Given the description of an element on the screen output the (x, y) to click on. 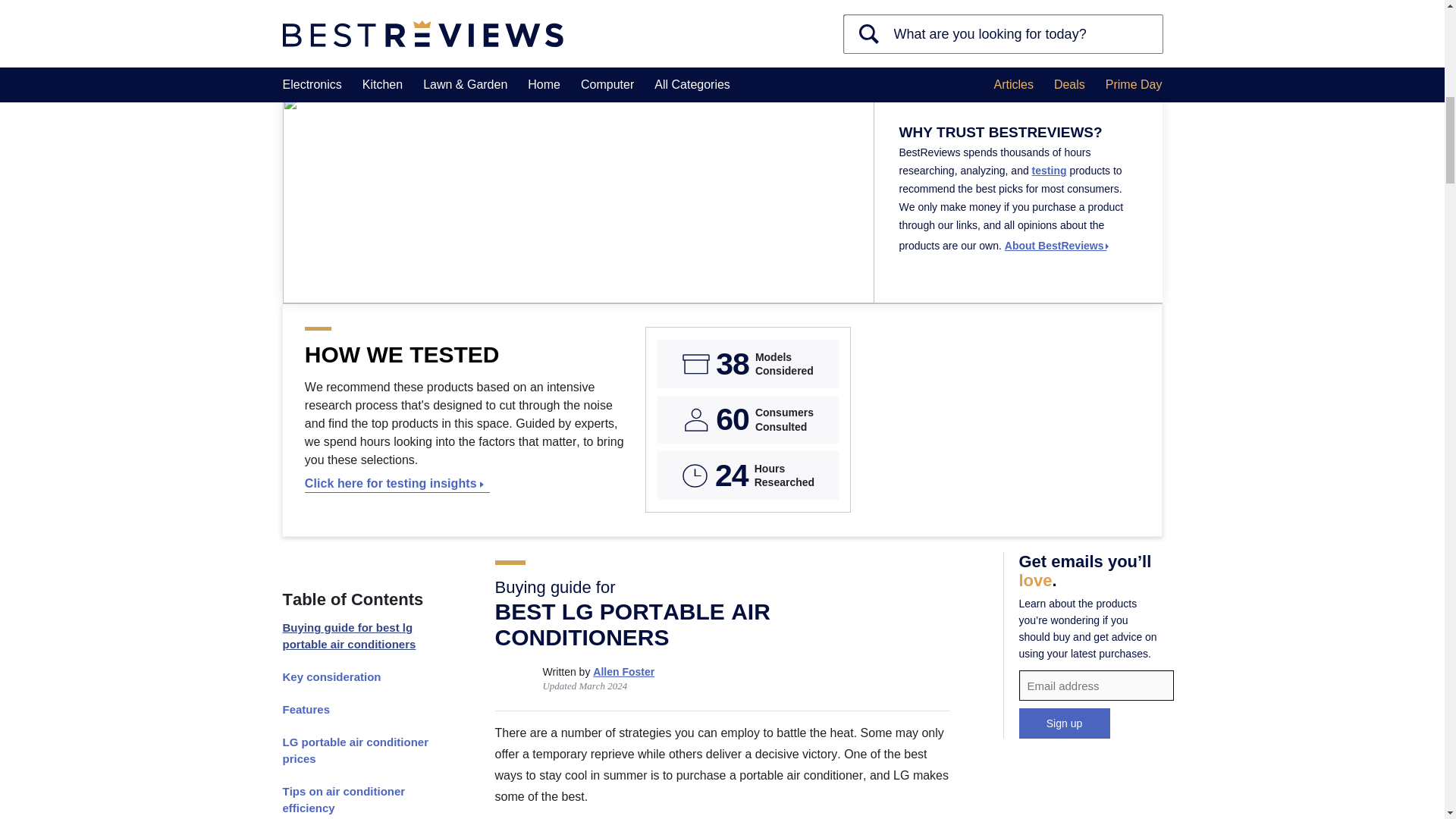
LG portable air conditioner prices (361, 750)
Tips on air conditioner efficiency (361, 798)
Key consideration (361, 677)
Subscribe email (1096, 685)
Allen Foster (622, 671)
About BestReviews   (1056, 245)
Features (361, 709)
Buying guide for best lg portable air conditioners (361, 636)
testing (1049, 170)
